Given the description of an element on the screen output the (x, y) to click on. 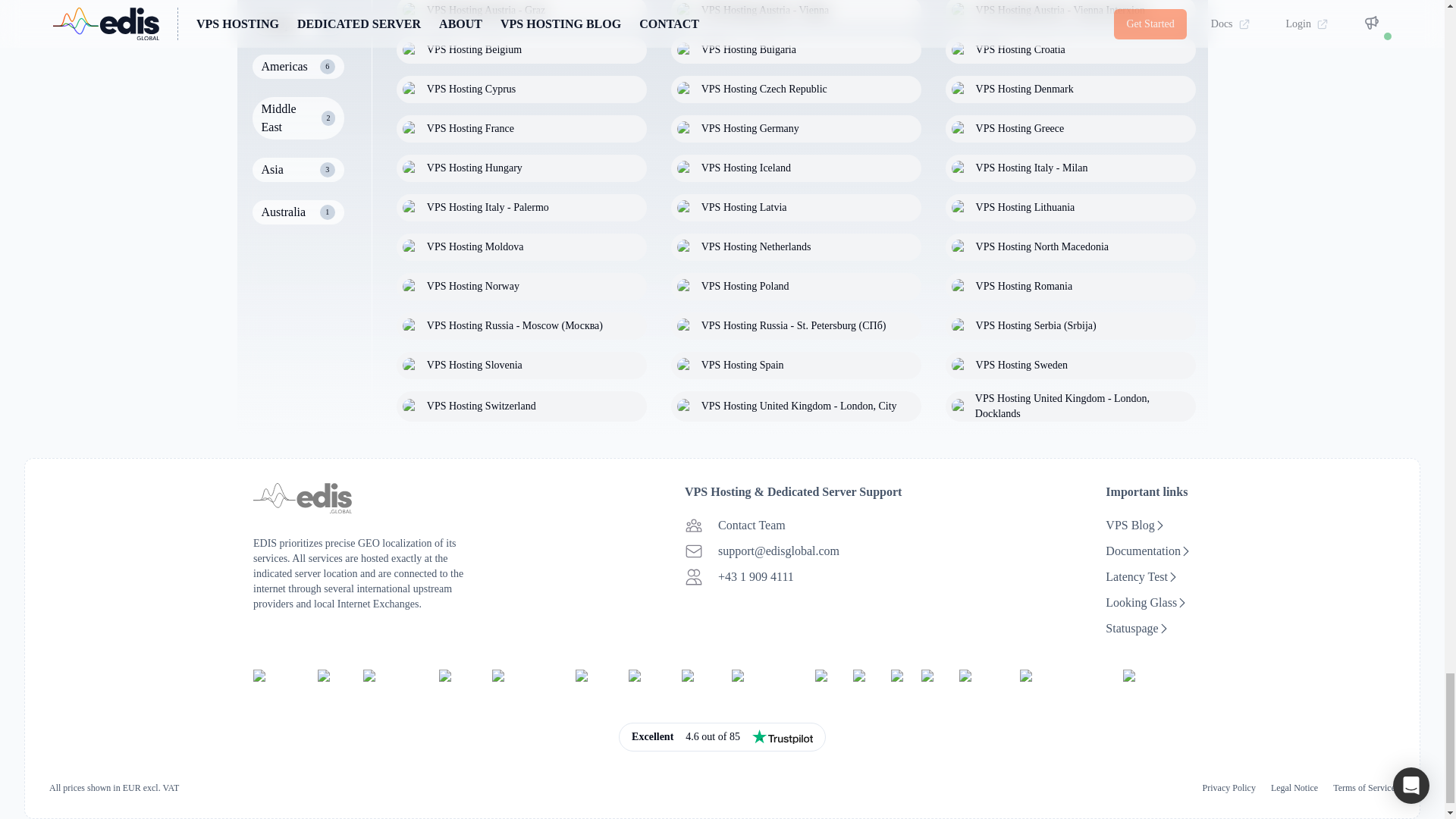
Cyprus VPS: High-Quality Global Connectivity for Businesses (521, 89)
VPS Austria, VPS Server Hosting (1069, 12)
Croatia VPS, Buy Cheap VPS Hosting (1069, 49)
VPS Bulgaria, Cheap Bulgaria Server Hosting (796, 49)
Belgium VPS, Buy Cheap Belgium Server (521, 49)
